Given the description of an element on the screen output the (x, y) to click on. 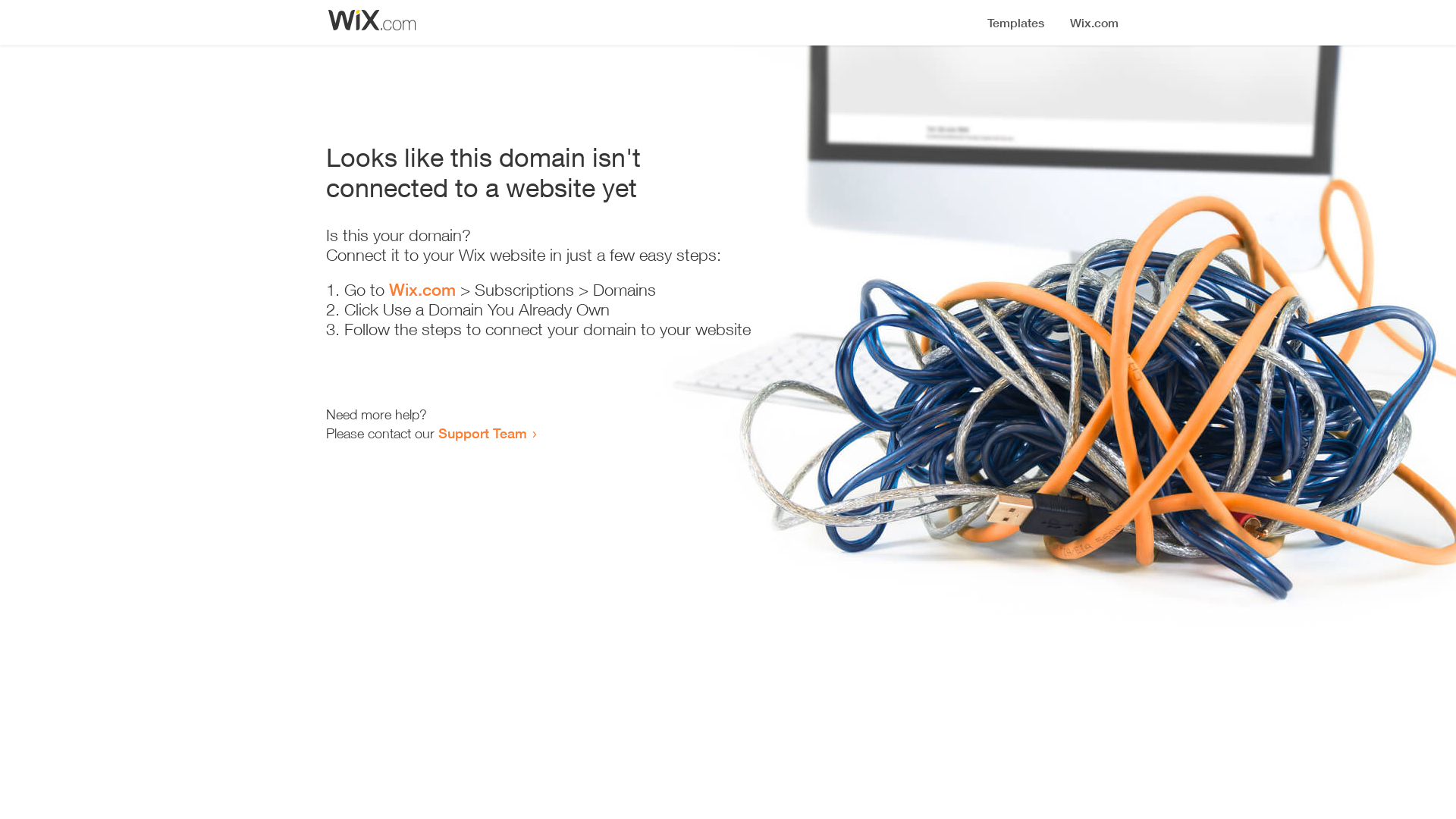
Support Team Element type: text (482, 432)
Wix.com Element type: text (422, 289)
